Given the description of an element on the screen output the (x, y) to click on. 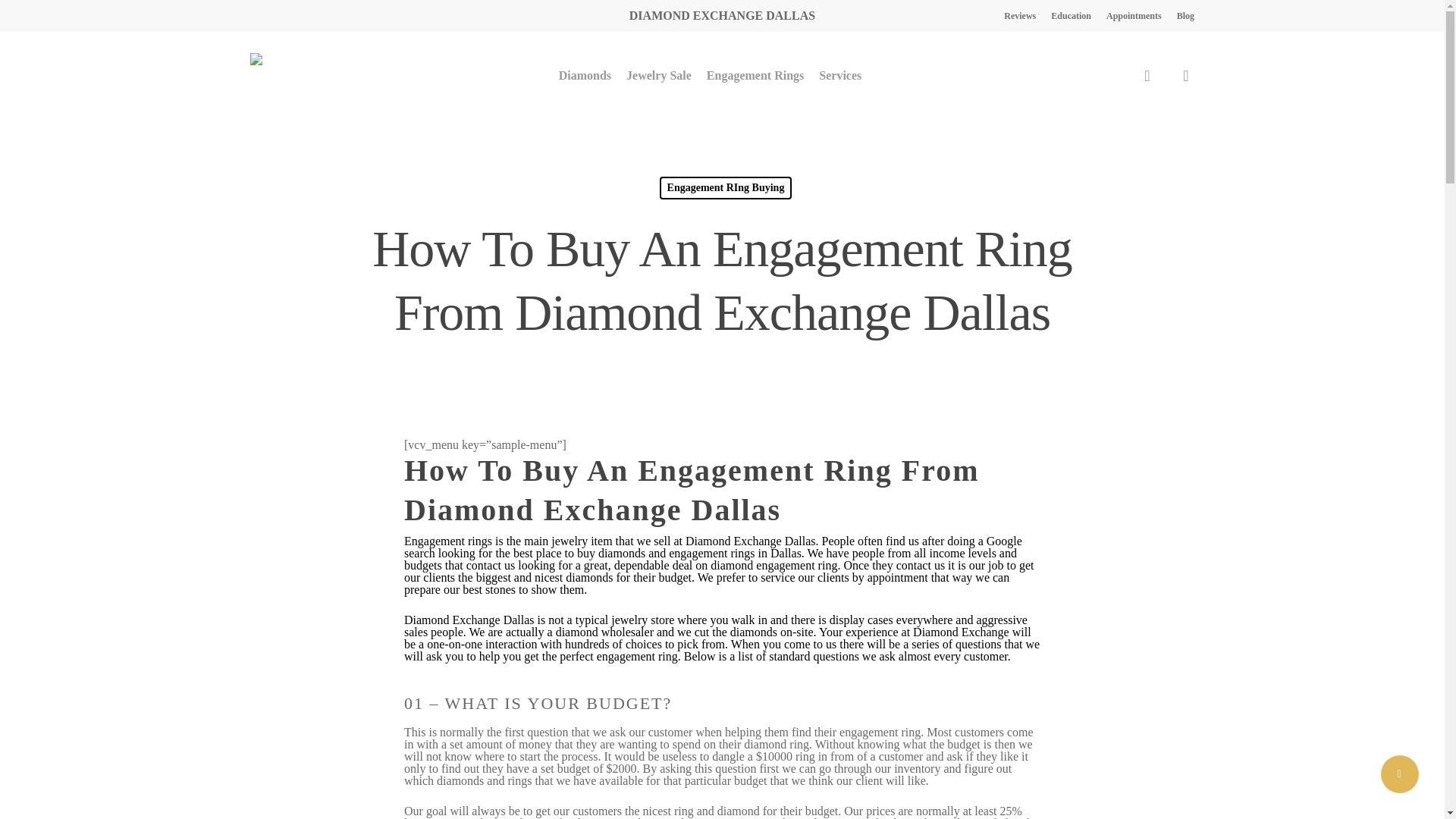
Engagement Rings (754, 75)
Reviews (1019, 15)
Education (1070, 15)
Appointments (1133, 15)
Jewelry Sale (658, 75)
Diamonds (585, 75)
Services (839, 75)
Blog (1184, 15)
